Given the description of an element on the screen output the (x, y) to click on. 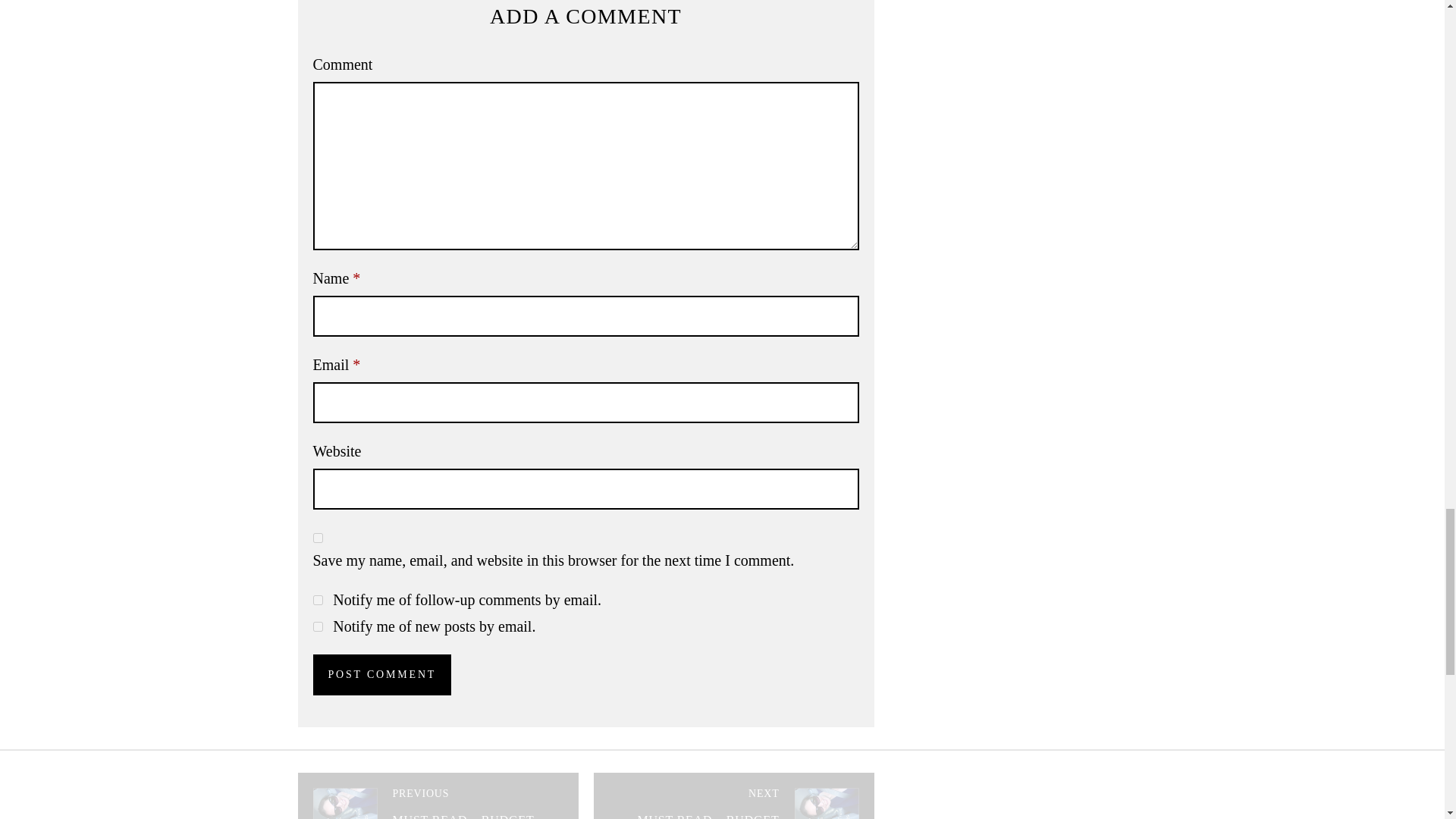
yes (317, 537)
subscribe (317, 600)
subscribe (317, 626)
Post Comment (382, 674)
